Given the description of an element on the screen output the (x, y) to click on. 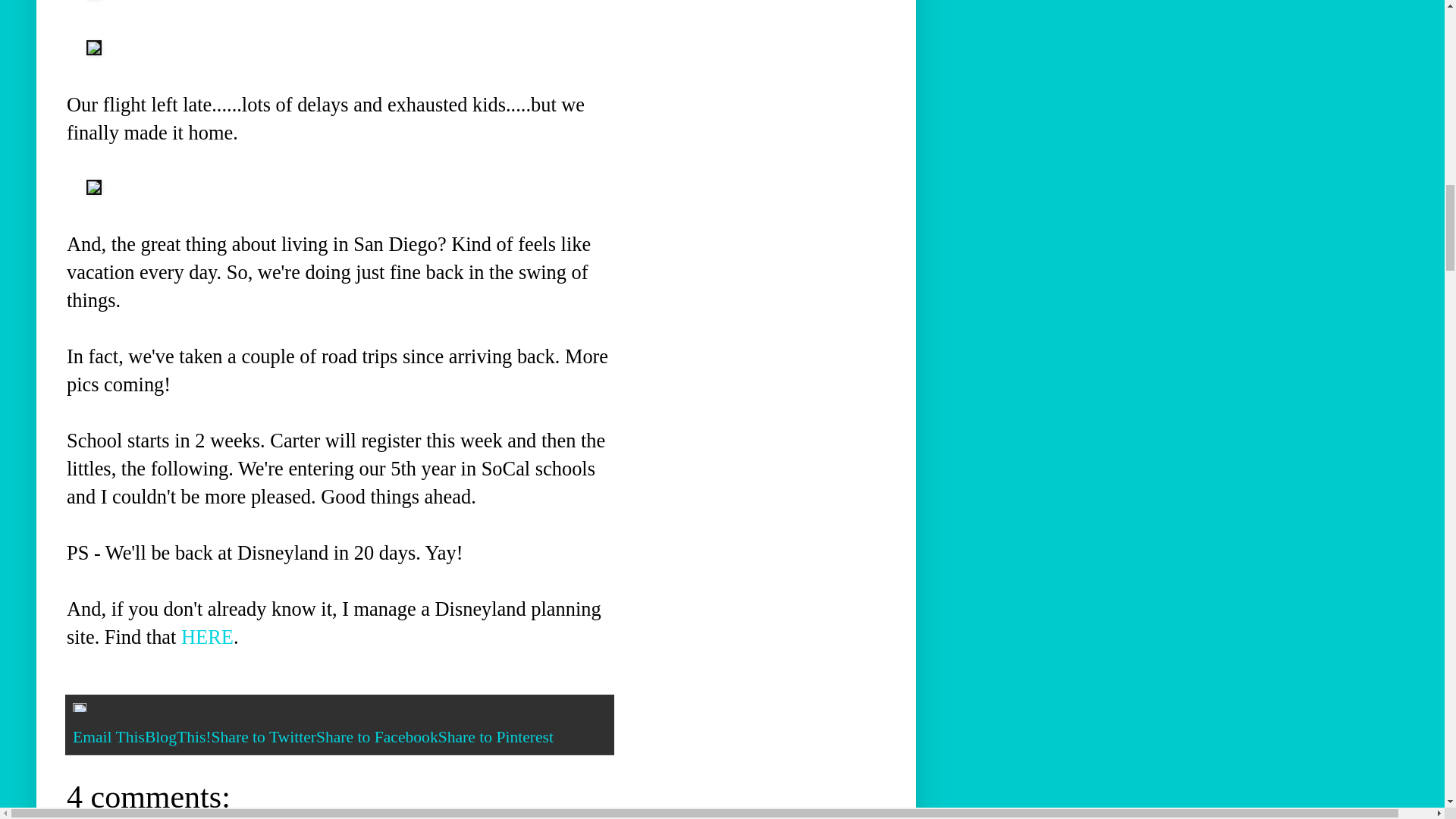
Share to Facebook (376, 737)
Email This (108, 737)
Share to Pinterest (495, 737)
HERE (206, 636)
Share to Twitter (263, 737)
Share to Facebook (376, 737)
BlogThis! (177, 737)
Edit Post (78, 710)
Share to Twitter (263, 737)
Email This (108, 737)
Share to Pinterest (495, 737)
BlogThis! (177, 737)
